Given the description of an element on the screen output the (x, y) to click on. 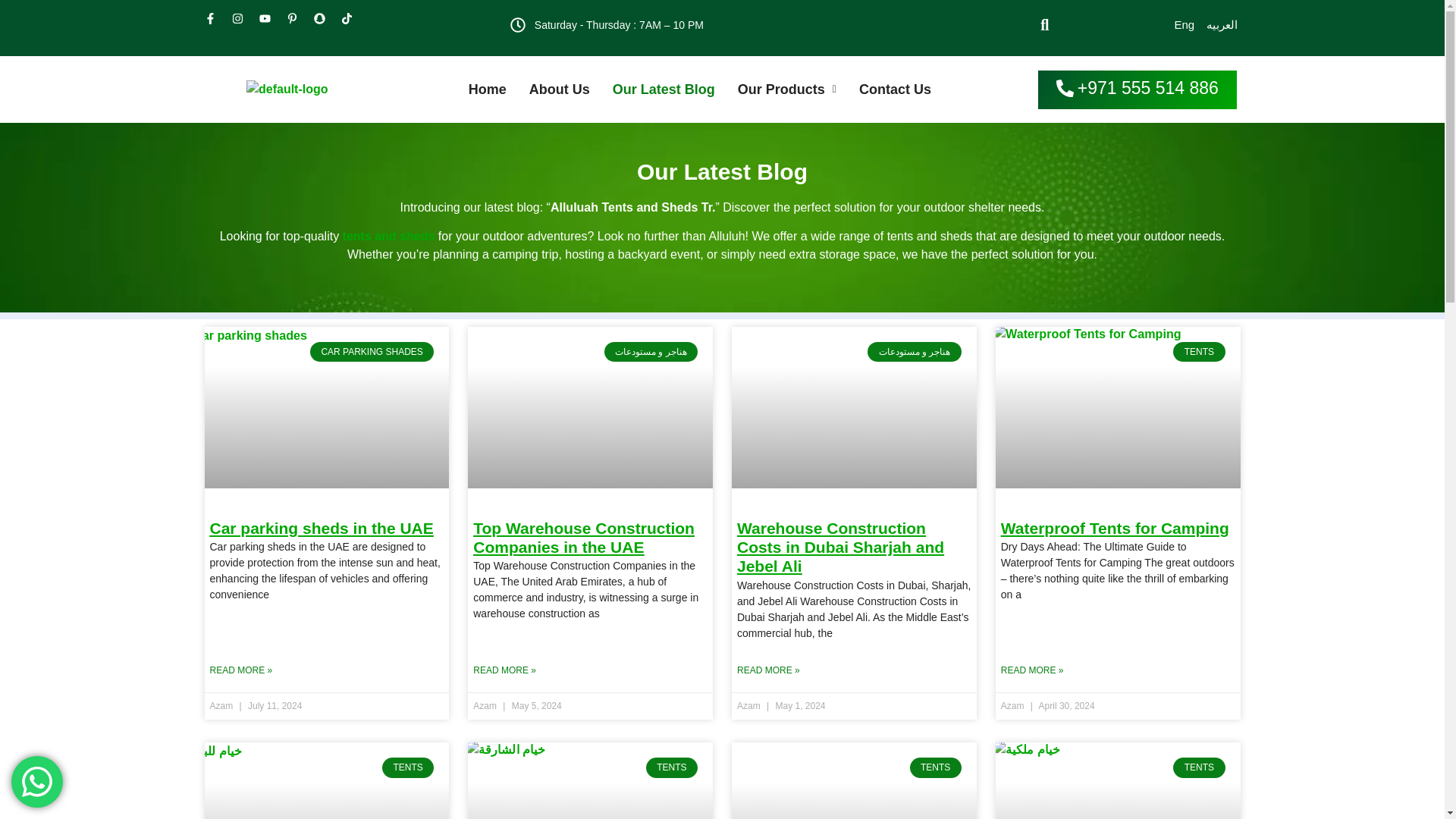
Eng (1183, 25)
Chat on Whatsapp (36, 781)
Home (487, 89)
Search (1037, 24)
Our Latest Blog (663, 89)
Contact Us (894, 89)
tents and sheds (388, 236)
Car parking sheds in the UAE (320, 528)
Top Warehouse Construction Companies in the UAE (583, 537)
About Us (559, 89)
Our Products (786, 89)
